Given the description of an element on the screen output the (x, y) to click on. 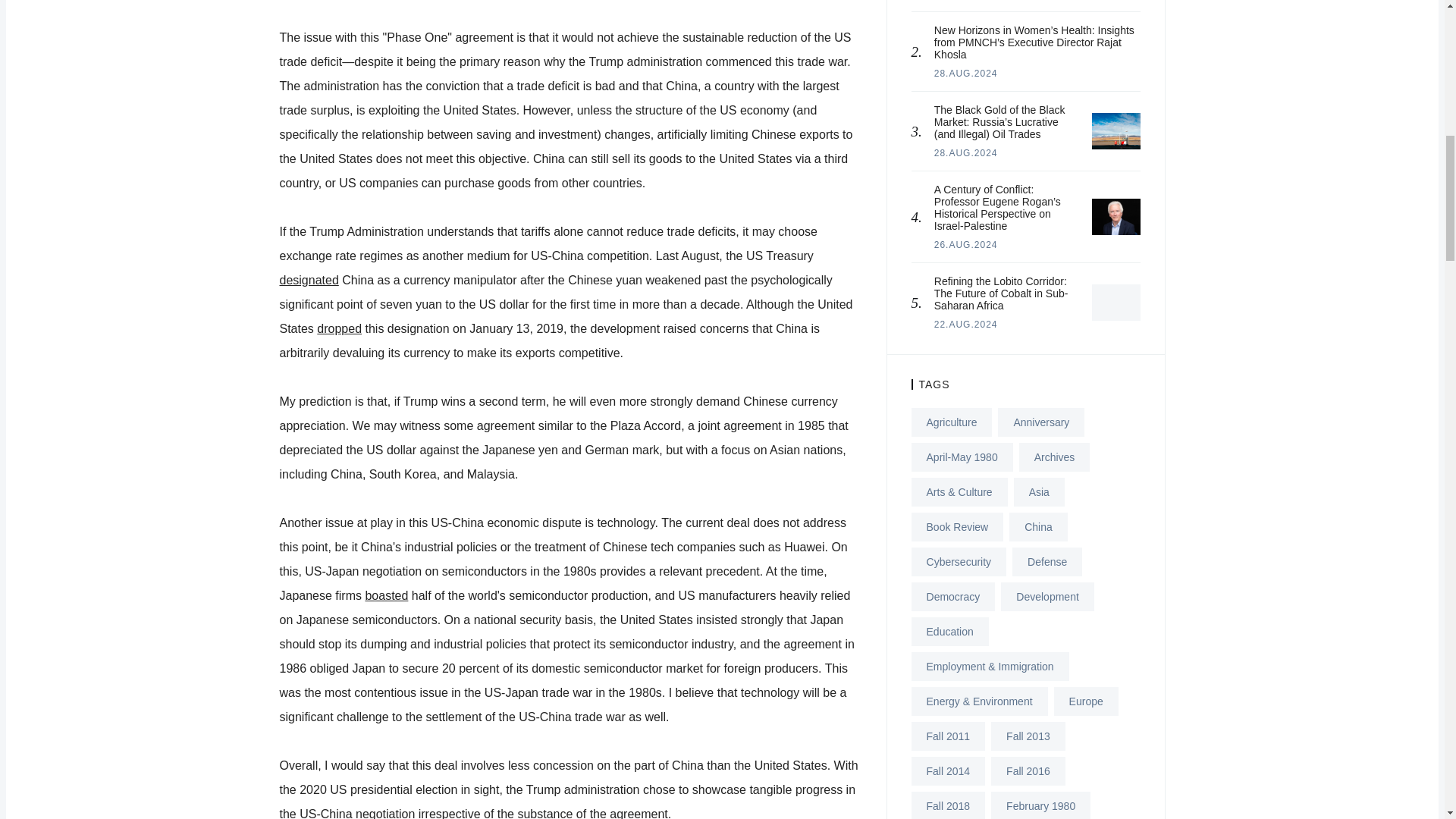
dropped (339, 328)
28 August 2024 (965, 153)
designated (308, 279)
boasted (386, 594)
Anniversary (1040, 421)
28 August 2024 (965, 72)
Book Review (957, 526)
Asia (1038, 491)
26 August 2024 (965, 244)
